Given the description of an element on the screen output the (x, y) to click on. 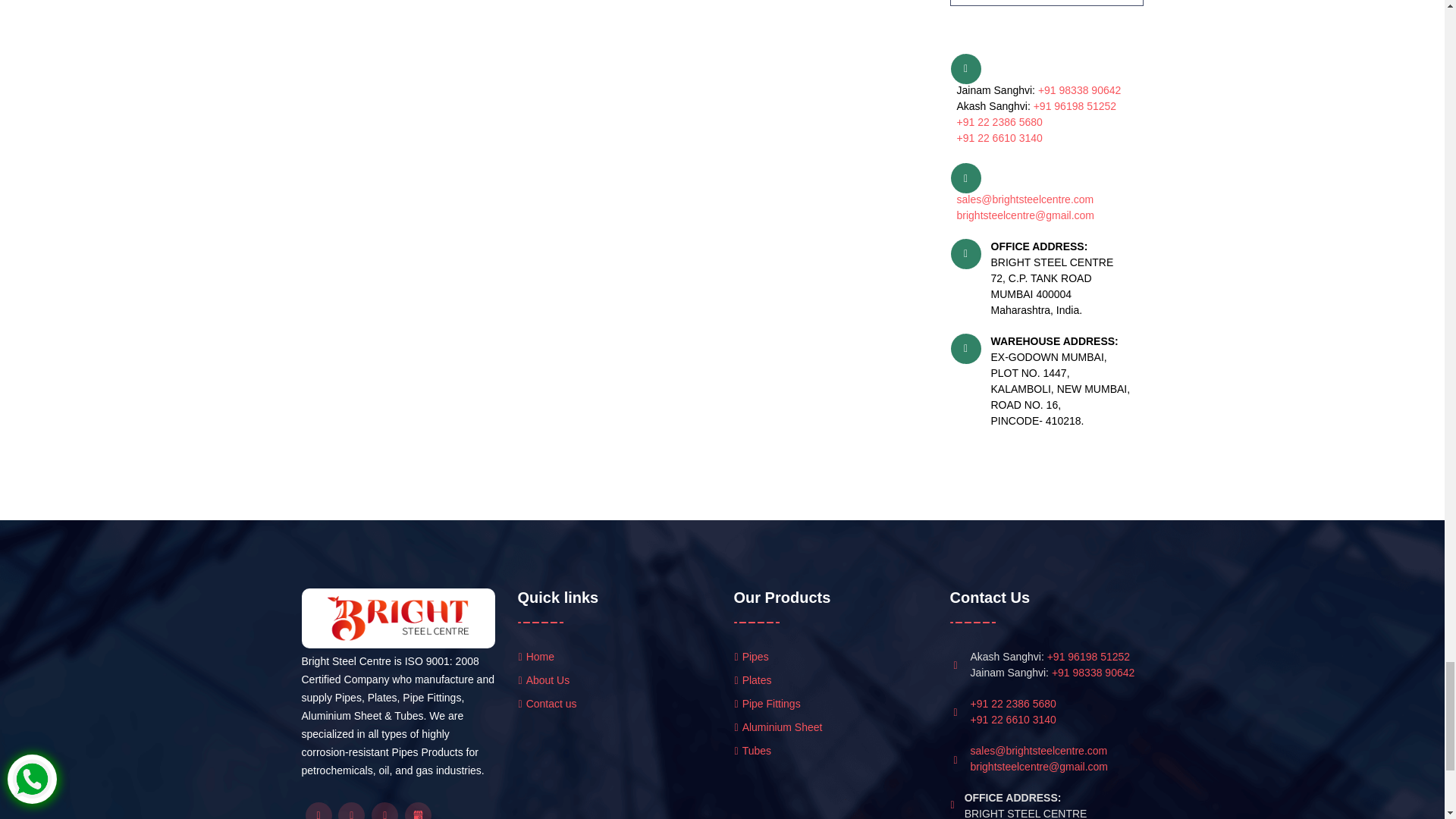
Twitter (351, 810)
Linkedin (384, 810)
Google Business (417, 810)
Bright Steel Centre (398, 618)
Facebook (317, 810)
